Given the description of an element on the screen output the (x, y) to click on. 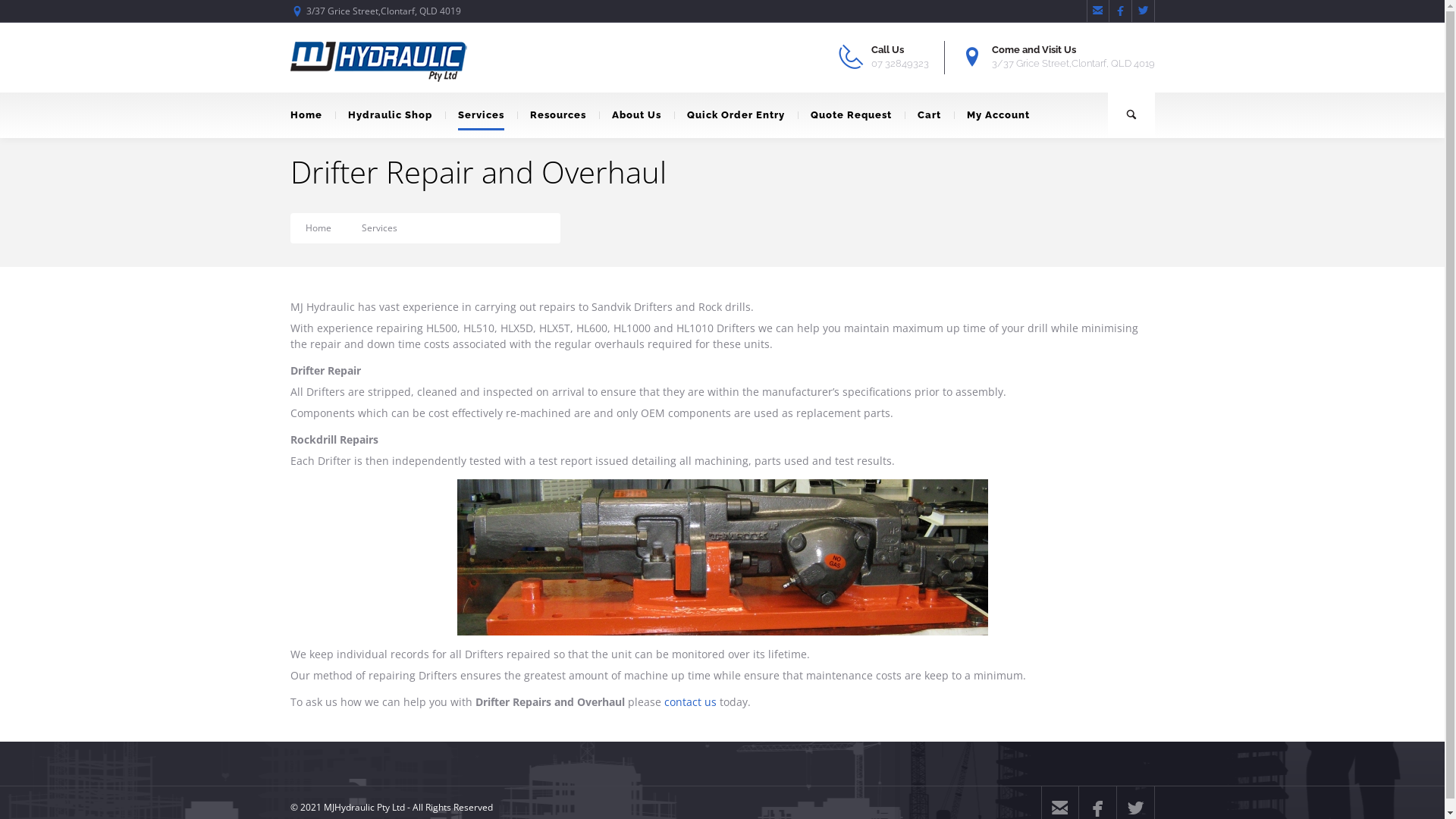
Resources Element type: text (558, 115)
Services Element type: text (378, 227)
contact us Element type: text (690, 701)
Quick Order Entry Element type: text (735, 115)
Hydraulic Shop Element type: text (390, 115)
Services Element type: text (480, 115)
  Element type: text (1130, 115)
Home Element type: text (317, 227)
Quote Request Element type: text (850, 115)
My Account Element type: text (997, 115)
Cart Element type: text (928, 115)
Home Element type: text (311, 115)
About Us Element type: text (636, 115)
